Given the description of an element on the screen output the (x, y) to click on. 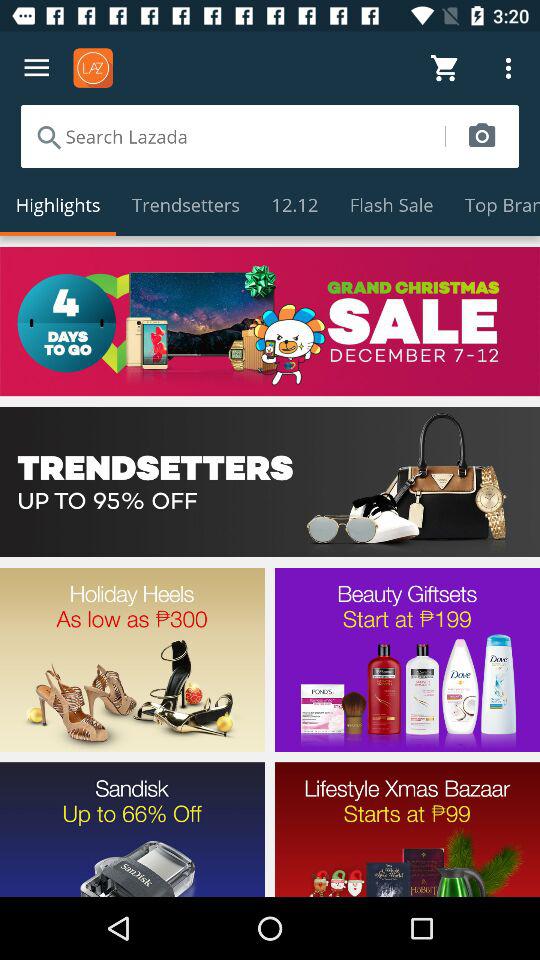
search via camera (482, 136)
